Given the description of an element on the screen output the (x, y) to click on. 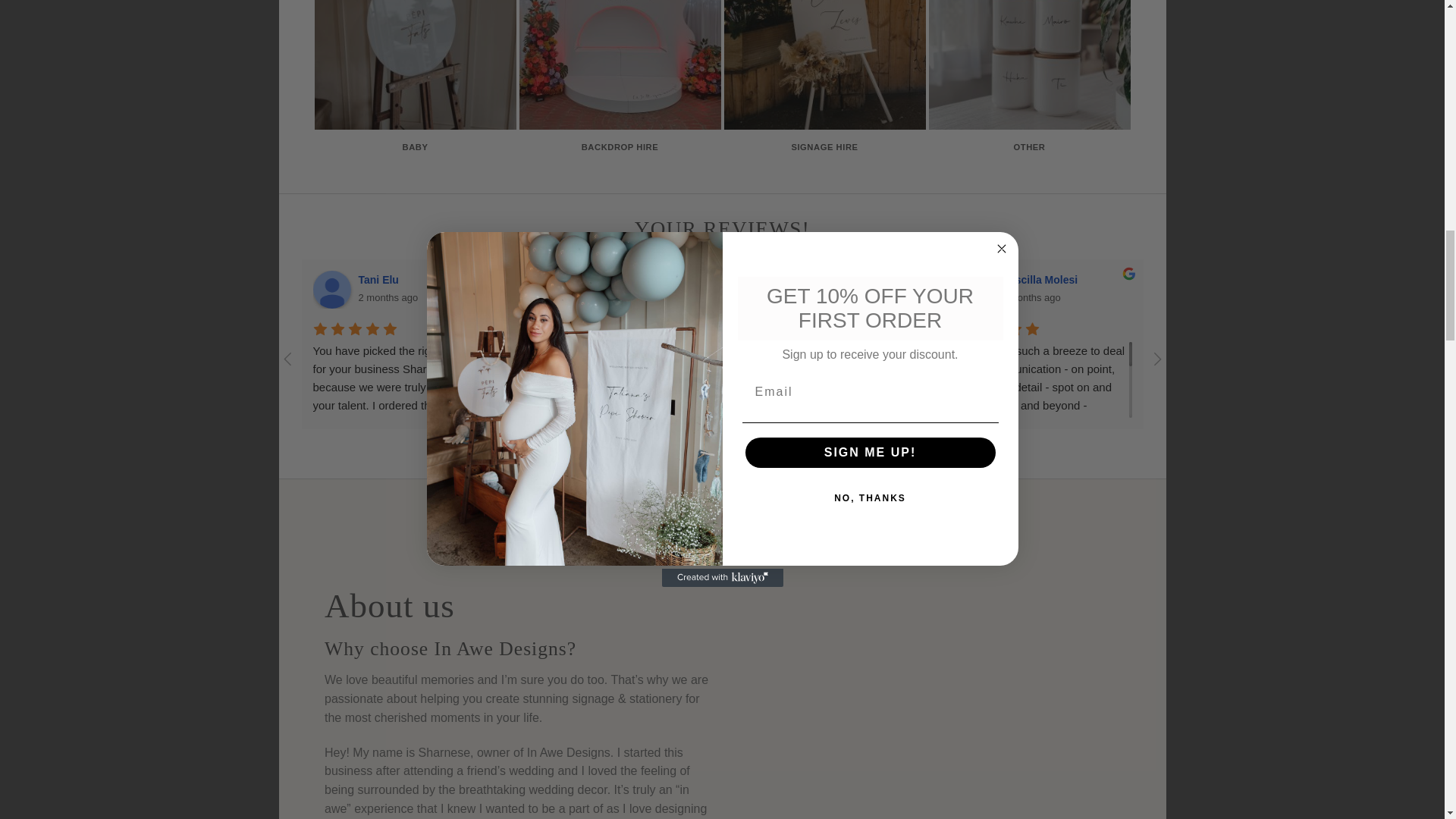
Jade Fox (759, 289)
Tani Elu (331, 289)
Lopesi Tamala (545, 289)
